Given the description of an element on the screen output the (x, y) to click on. 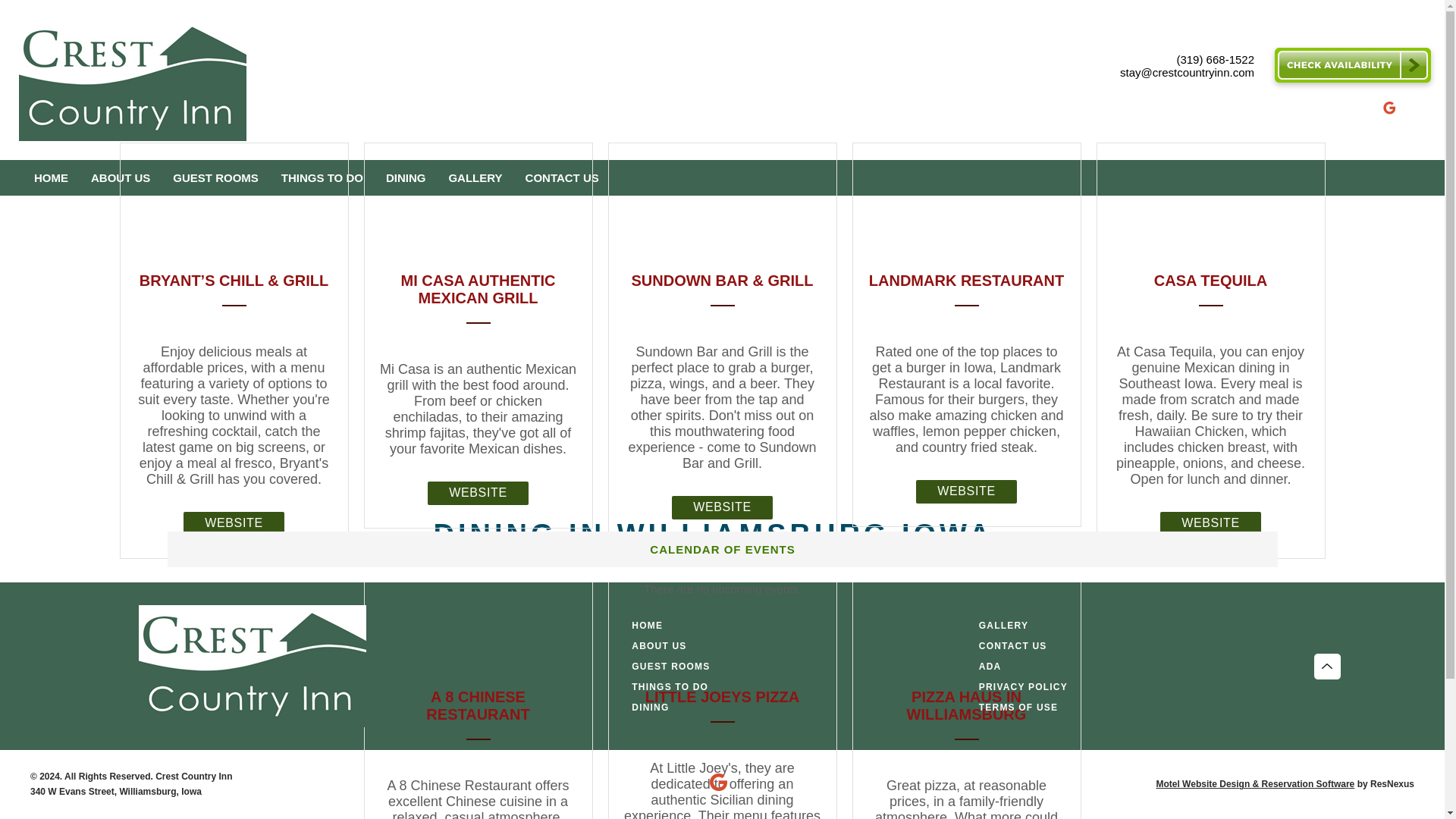
GUEST ROOMS (215, 177)
GALLERY (1002, 625)
WEBSITE (722, 507)
DINING (406, 177)
WEBSITE (1210, 523)
CONTACT US (1012, 646)
HOME (51, 177)
See more information for Pizza Haus in Williamsburg (965, 705)
CONTACT US (561, 177)
WEBSITE (478, 493)
